Given the description of an element on the screen output the (x, y) to click on. 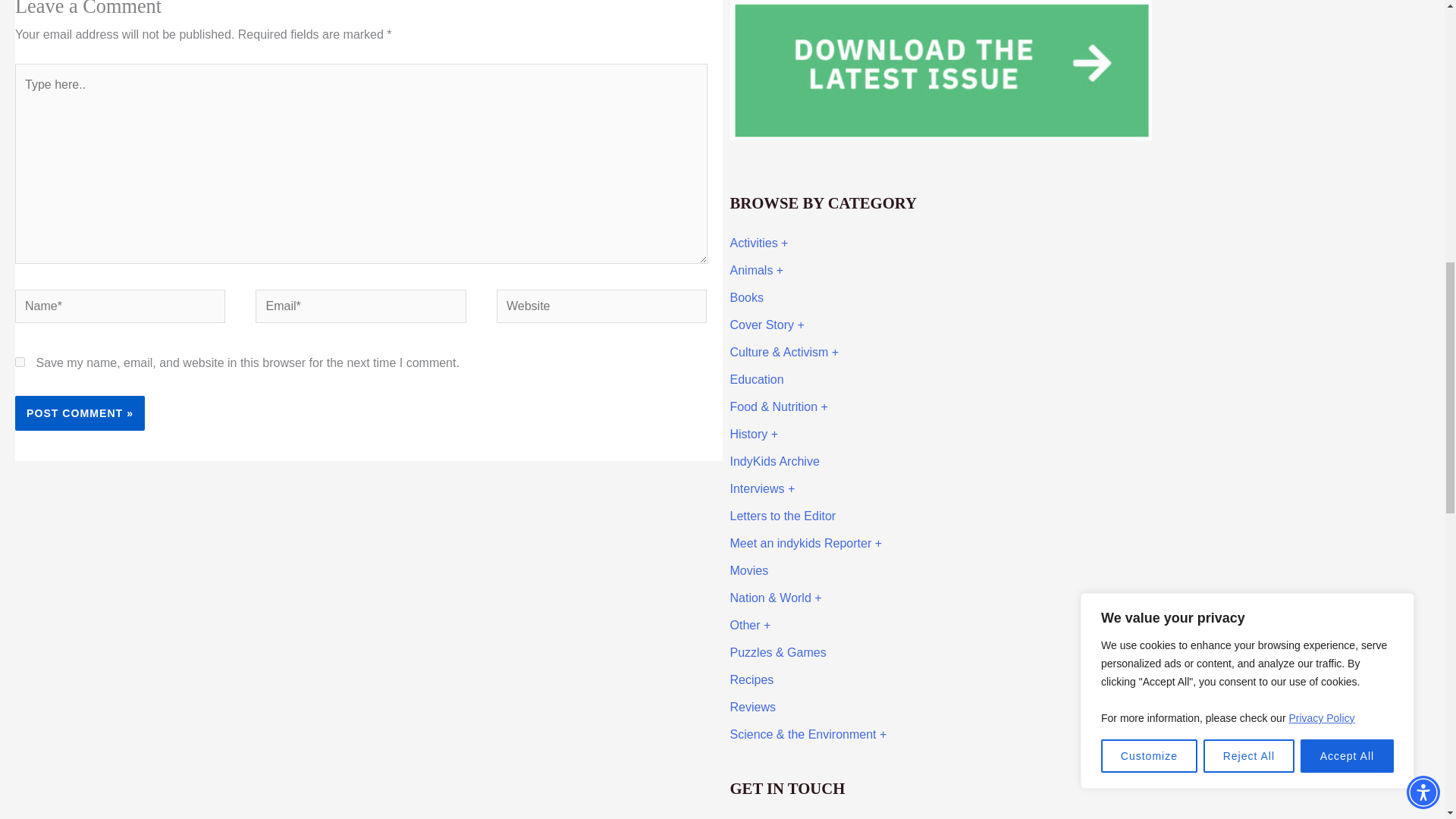
yes (19, 361)
